Given the description of an element on the screen output the (x, y) to click on. 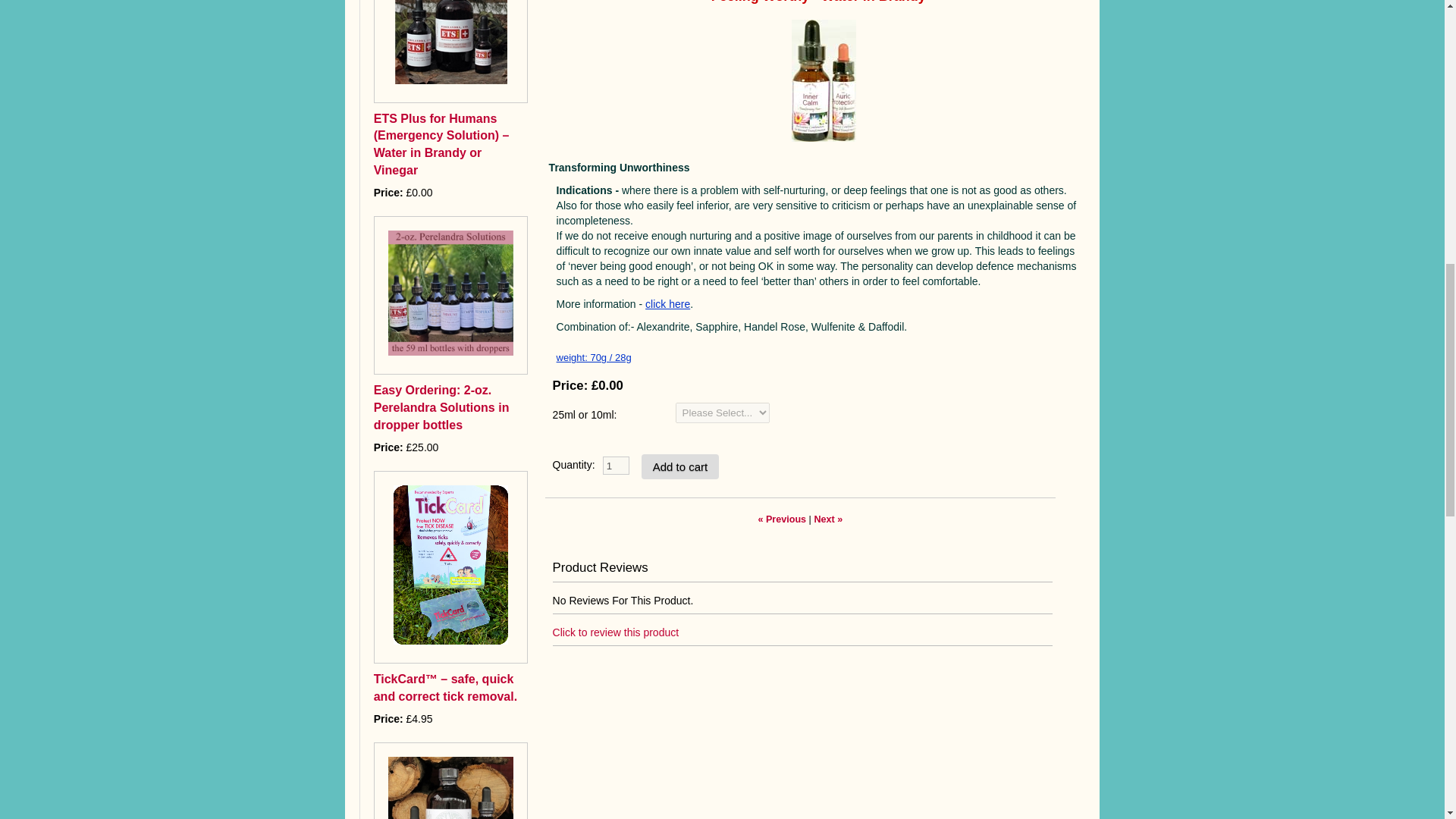
Add to cart (680, 466)
1 (615, 465)
Quantity (615, 465)
